Given the description of an element on the screen output the (x, y) to click on. 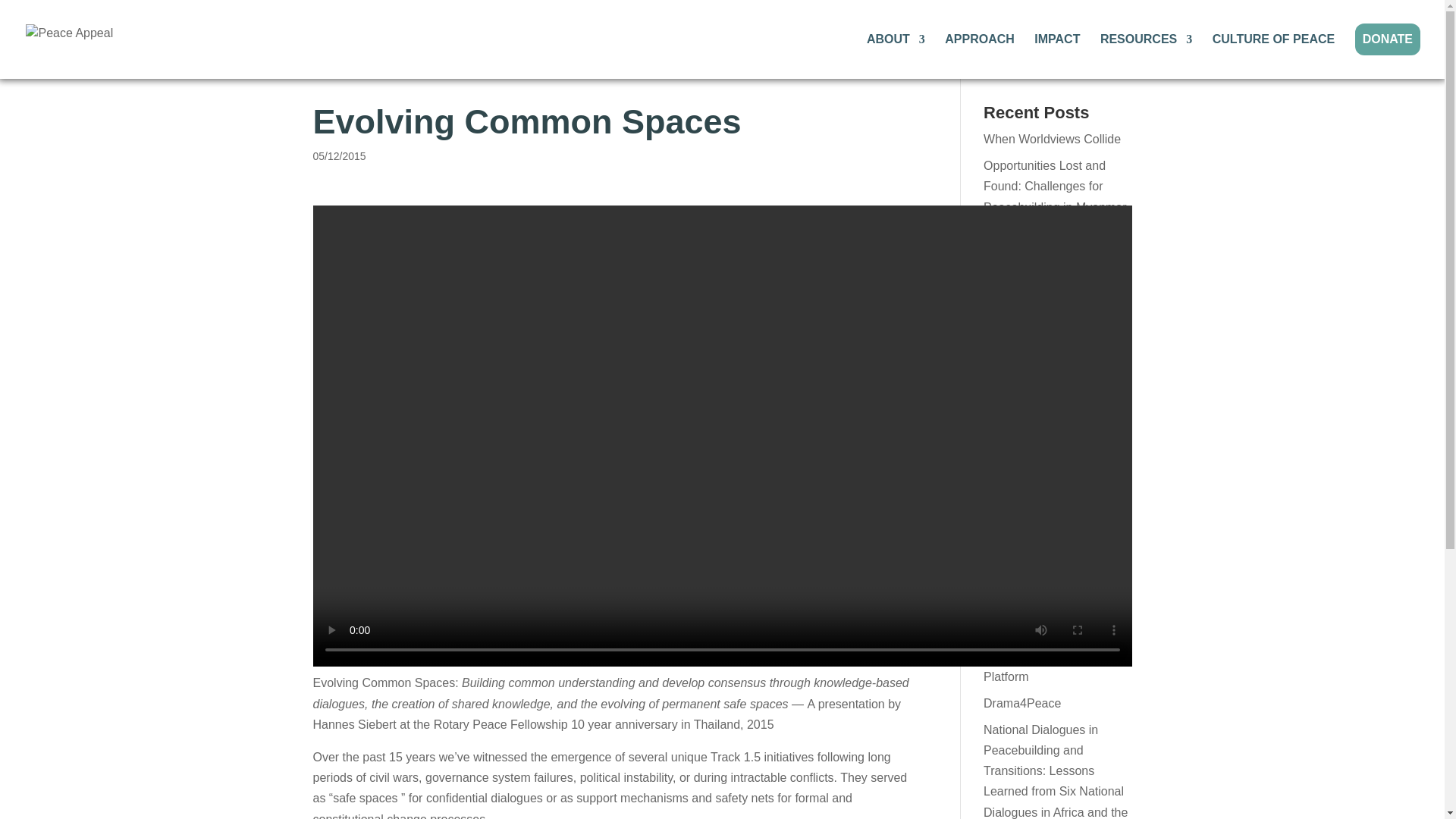
RESOURCES (1146, 56)
ABOUT (895, 56)
IMPACT (1056, 56)
Drama4Peace (1022, 703)
Peace Appeal Annual Review (1041, 618)
CULTURE OF PEACE (1273, 56)
DONATE (1388, 39)
The Drama 4 Peace Platform (1038, 665)
 Rotary Peace Fellowship 10 year anniversary (553, 724)
APPROACH (979, 56)
When Worldviews Collide (1052, 138)
